Given the description of an element on the screen output the (x, y) to click on. 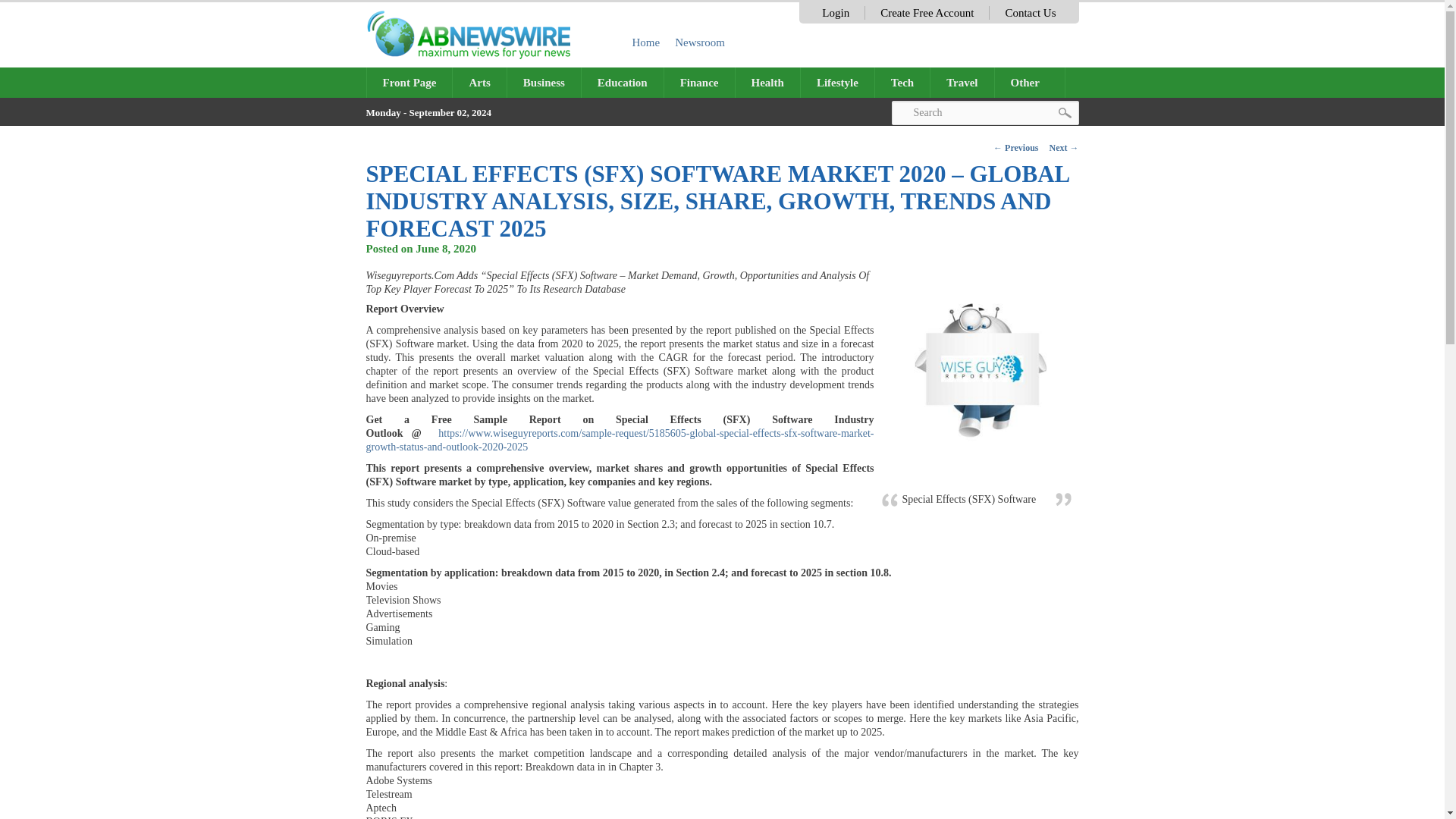
Newsroom (700, 42)
Travel (961, 82)
Create Free Account (926, 12)
Front Page (409, 82)
Health (767, 82)
Search (984, 112)
Contact Us (1030, 12)
Education (622, 82)
Finance (698, 82)
Search (984, 112)
